Given the description of an element on the screen output the (x, y) to click on. 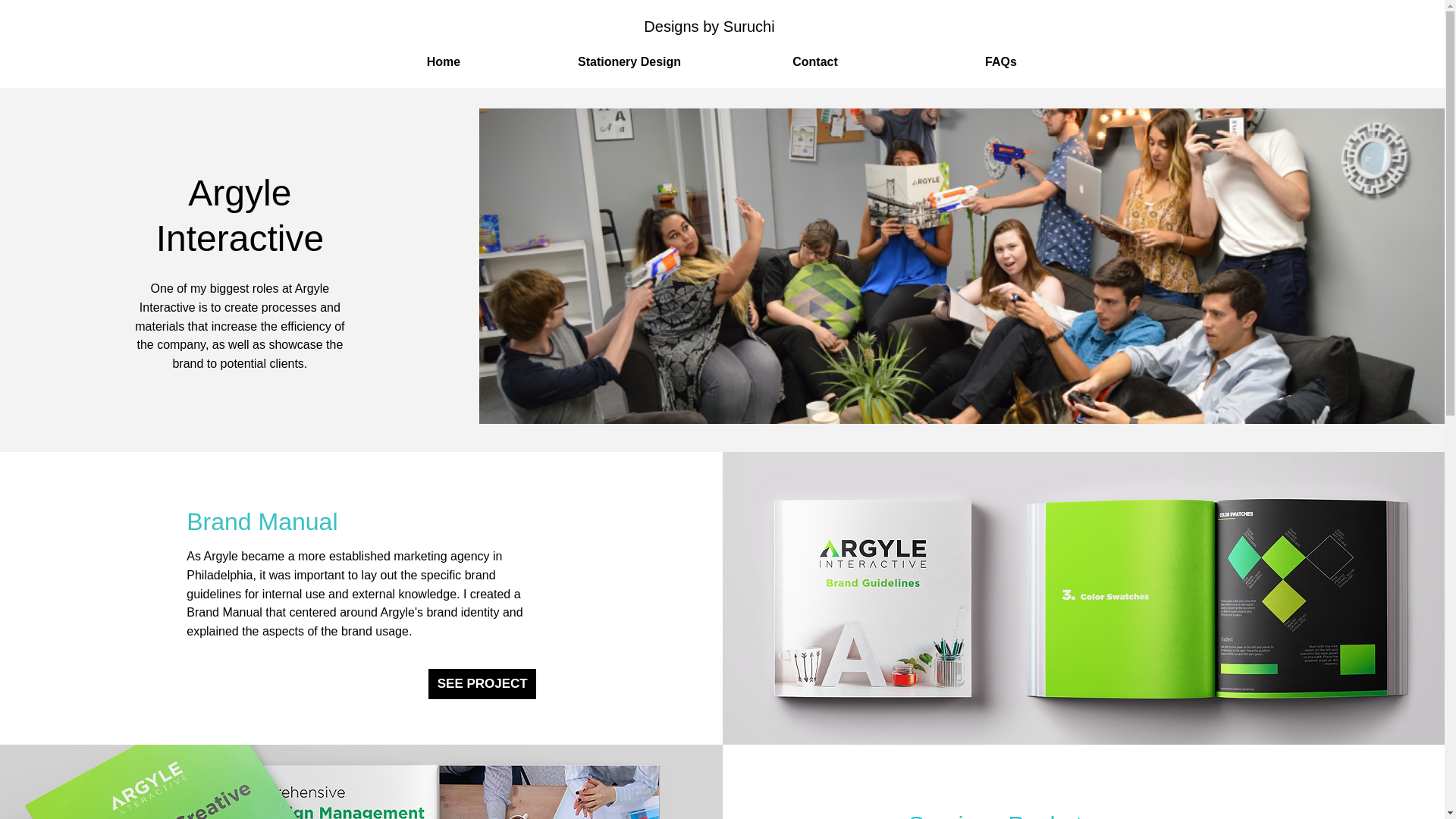
SEE PROJECT (481, 684)
Stationery Design (629, 61)
Home (442, 61)
FAQs (1001, 61)
Contact (814, 61)
